Given the description of an element on the screen output the (x, y) to click on. 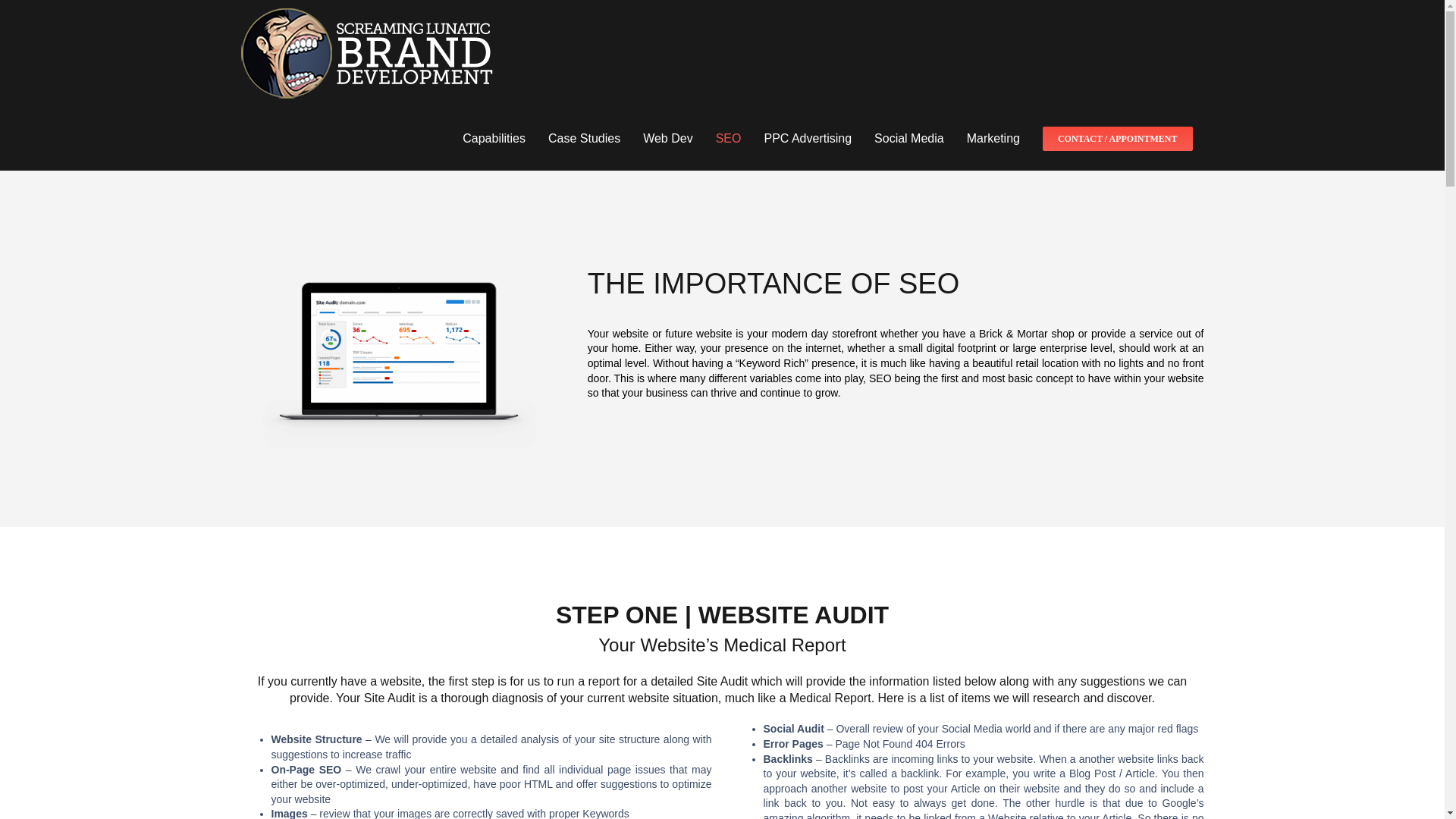
PPC Advertising (807, 138)
Web Dev (667, 138)
Marketing (992, 138)
Social Media (909, 138)
NJ SEO Client Dashboard (394, 369)
Capabilities (494, 138)
Case Studies (584, 138)
